Given the description of an element on the screen output the (x, y) to click on. 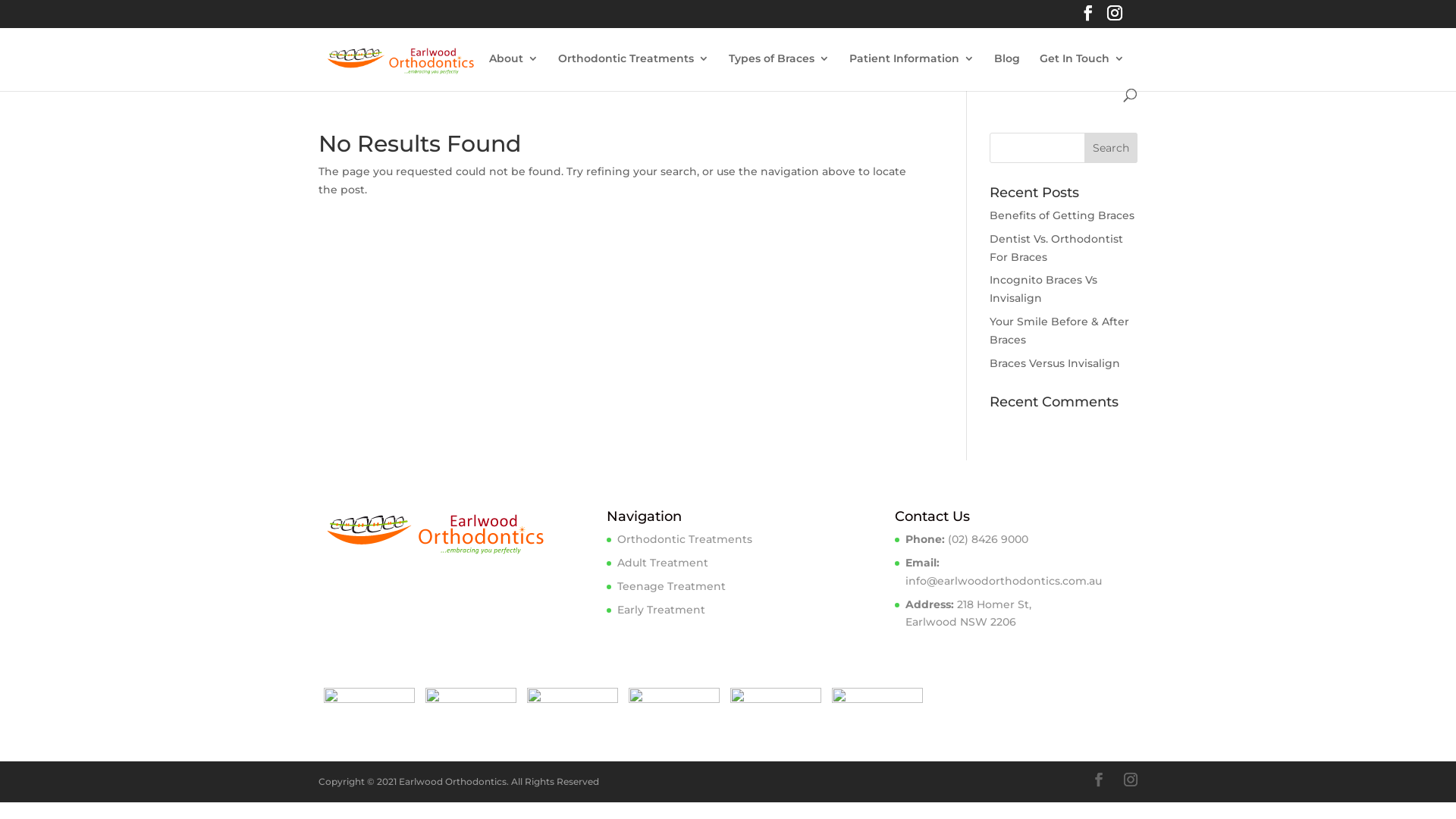
Search Element type: text (1110, 147)
Patient Information Element type: text (911, 70)
Dentist Vs. Orthodontist For Braces Element type: text (1056, 247)
Blog Element type: text (1006, 70)
Types of Braces Element type: text (778, 70)
Get In Touch Element type: text (1081, 70)
Benefits of Getting Braces Element type: text (1061, 215)
Orthodontic Treatments Element type: text (633, 70)
Incognito Braces Vs Invisalign Element type: text (1043, 288)
Adult Treatment Element type: text (662, 562)
Your Smile Before & After Braces Element type: text (1059, 330)
Early Treatment Element type: text (661, 609)
(02) 8426 9000 Element type: text (987, 539)
Braces Versus Invisalign Element type: text (1054, 363)
info@earlwoodorthodontics.com.au Element type: text (1003, 580)
Teenage Treatment Element type: text (671, 586)
About Element type: text (513, 70)
Orthodontic Treatments Element type: text (684, 539)
218 Homer St,
Earlwood NSW 2206 Element type: text (968, 613)
